Given the description of an element on the screen output the (x, y) to click on. 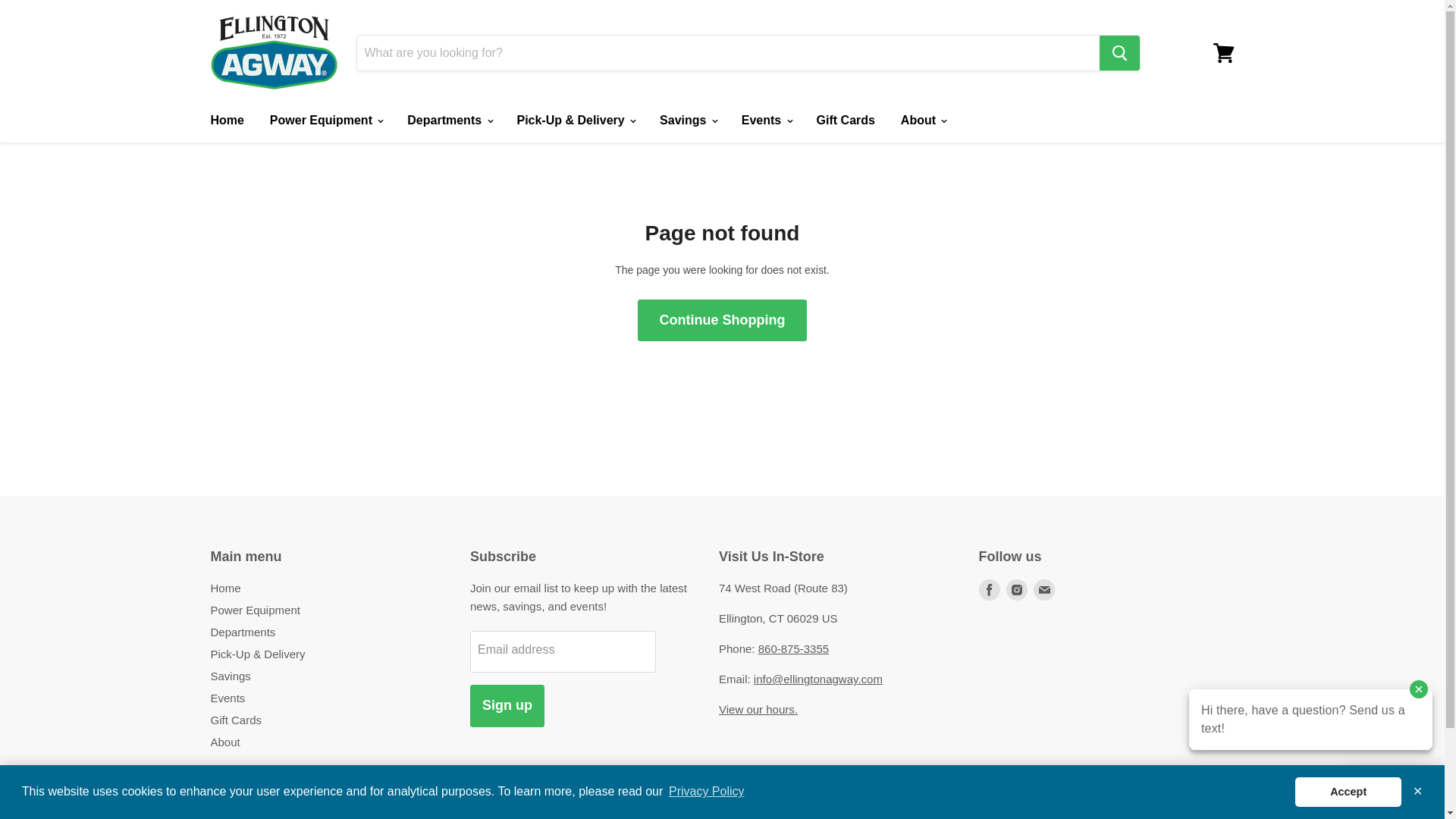
View cart (1223, 53)
Accept (1347, 791)
Power Equipment (326, 120)
search button (1119, 53)
Privacy Policy (706, 791)
Home (226, 120)
E-mail (1043, 589)
Facebook (989, 589)
Instagram (1016, 589)
Departments (449, 120)
Location (758, 708)
